Given the description of an element on the screen output the (x, y) to click on. 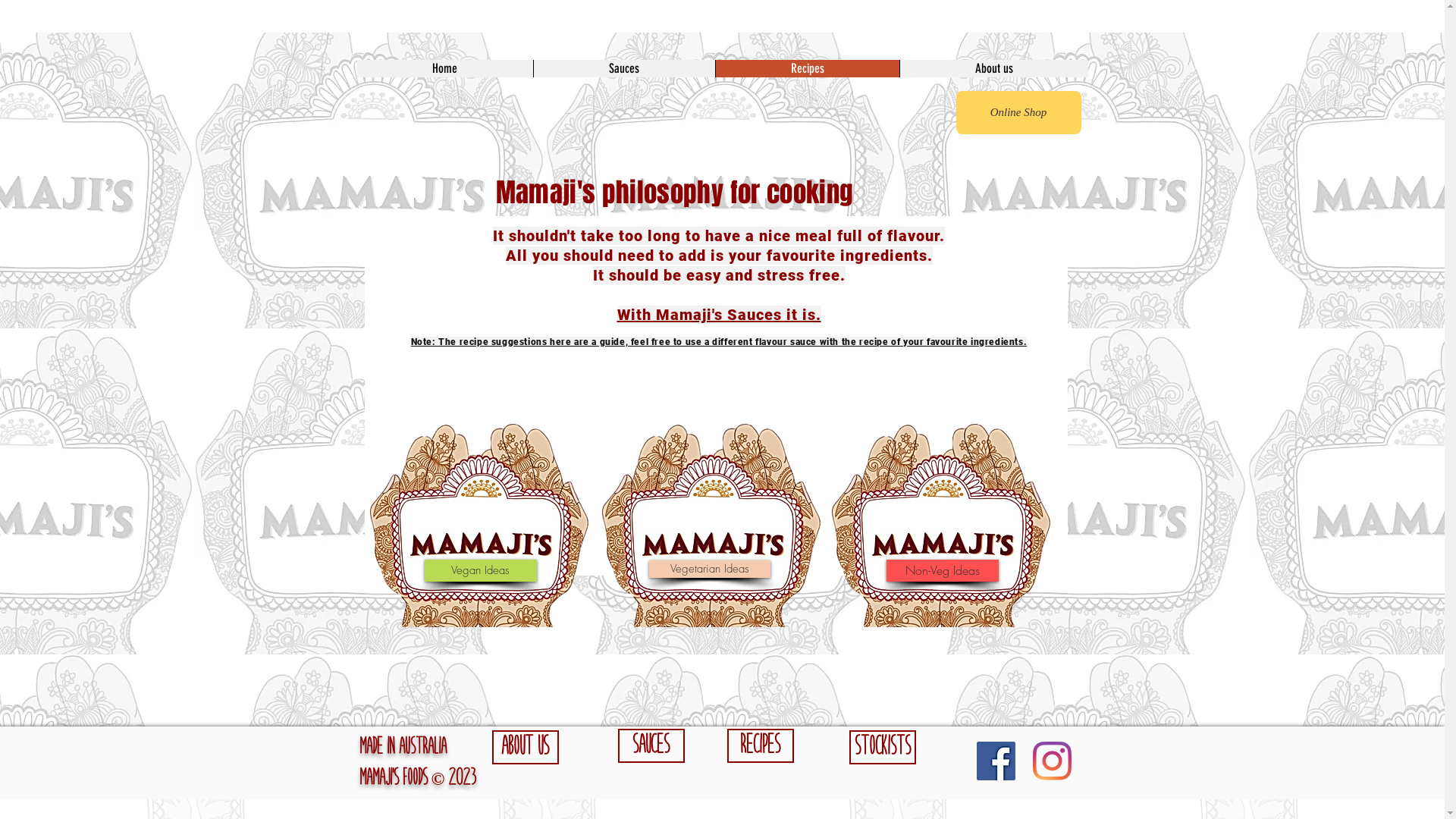
Online Shop Element type: text (1017, 112)
Vegetarian Ideas Element type: text (709, 568)
SAUCES Element type: text (650, 745)
Sauces Element type: text (623, 68)
Home Element type: text (444, 68)
Recipes Element type: text (759, 745)
About us Element type: text (993, 68)
About us Element type: text (524, 747)
Non-Veg Ideas Element type: text (941, 570)
Stockists Element type: text (882, 747)
Vegan Ideas Element type: text (480, 570)
Recipes Element type: text (806, 68)
